Given the description of an element on the screen output the (x, y) to click on. 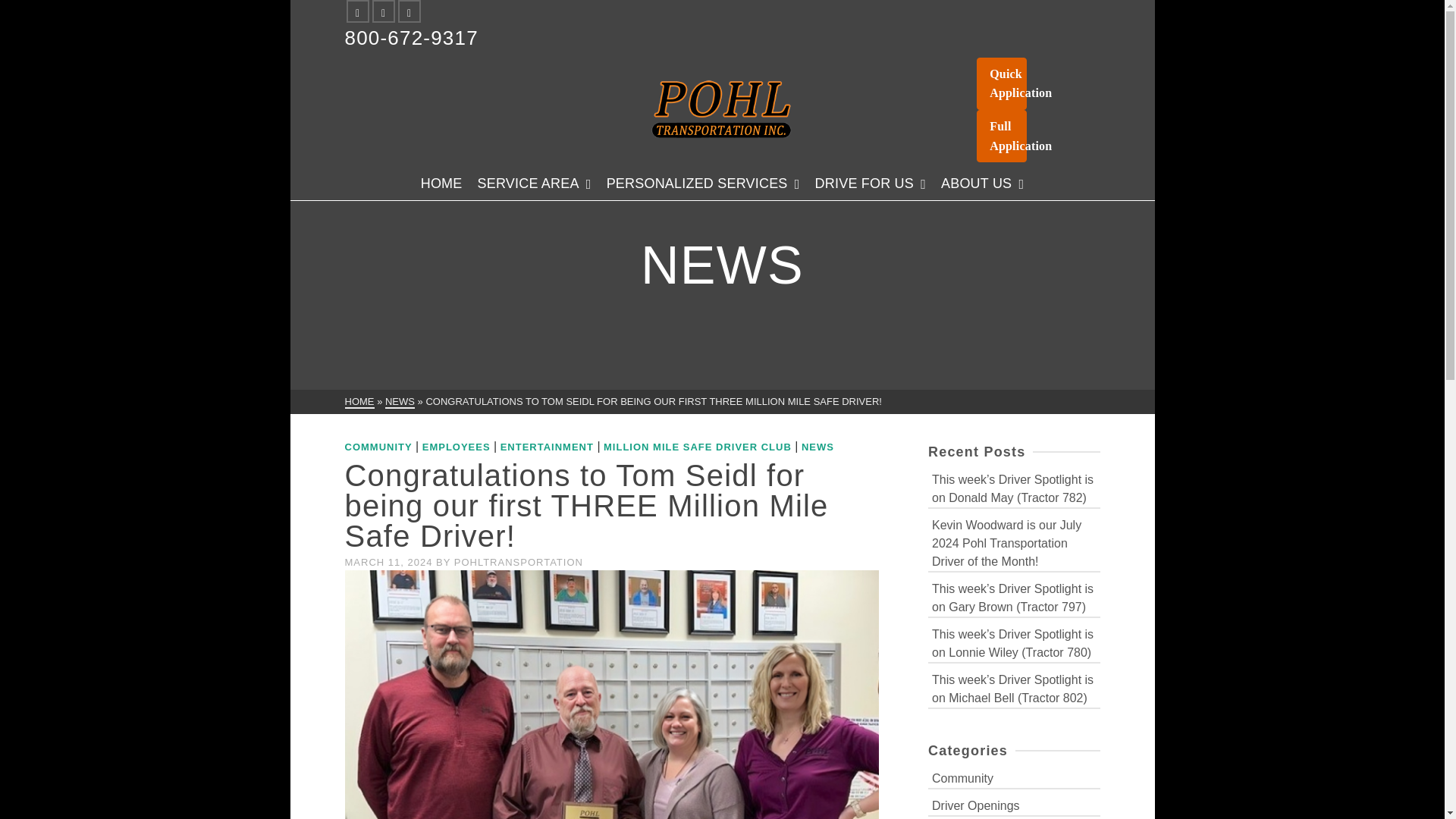
HOME (358, 401)
Full Application (1001, 135)
COMMUNITY (377, 446)
POHLTRANSPORTATION (518, 562)
Quick Application (1001, 83)
MILLION MILE SAFE DRIVER CLUB (698, 446)
PERSONALIZED SERVICES (703, 183)
NEWS (818, 446)
ENTERTAINMENT (547, 446)
NEWS (399, 401)
